Given the description of an element on the screen output the (x, y) to click on. 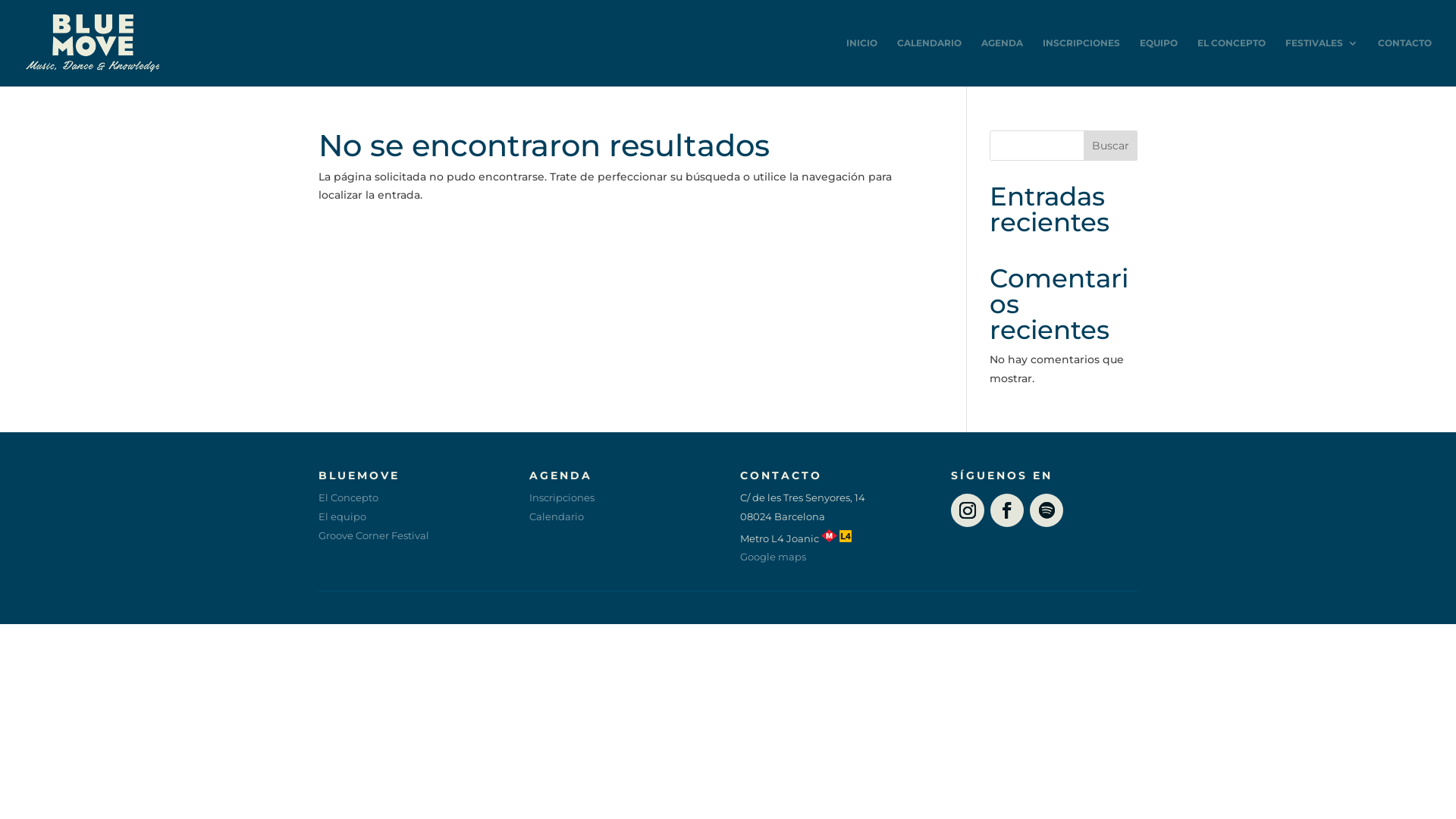
FESTIVALES Element type: text (1321, 61)
INSCRIPCIONES Element type: text (1081, 61)
Google maps Element type: text (773, 556)
Seguir en Facebook Element type: hover (1006, 510)
El equipo Element type: text (342, 516)
EQUIPO Element type: text (1158, 61)
CALENDARIO Element type: text (929, 61)
Seguir en Spotify Element type: hover (1046, 510)
Buscar Element type: text (1110, 145)
INICIO Element type: text (861, 61)
CONTACTO Element type: text (1404, 61)
AGENDA Element type: text (1001, 61)
El Concepto Element type: text (348, 497)
EL CONCEPTO Element type: text (1231, 61)
Groove Corner Festival Element type: text (373, 535)
Calendario Element type: text (556, 516)
Seguir en Instagram Element type: hover (967, 510)
Inscripciones Element type: text (561, 497)
